Given the description of an element on the screen output the (x, y) to click on. 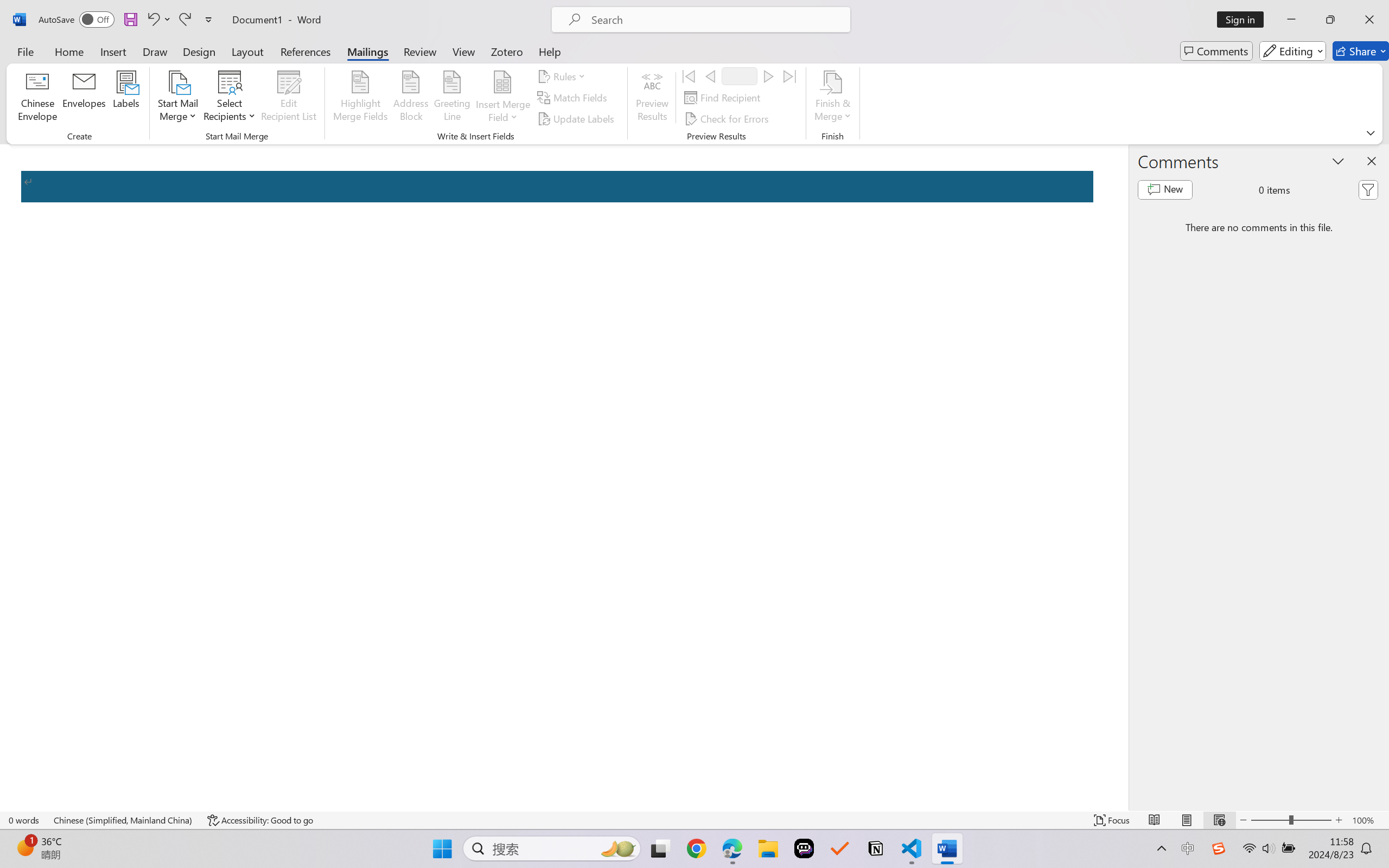
Check for Errors... (728, 118)
Redo Apply Quick Style (184, 19)
Next (768, 75)
Record (739, 76)
Language Chinese (Simplified, Mainland China) (123, 819)
Editing (1292, 50)
Edit Recipient List... (288, 97)
